Given the description of an element on the screen output the (x, y) to click on. 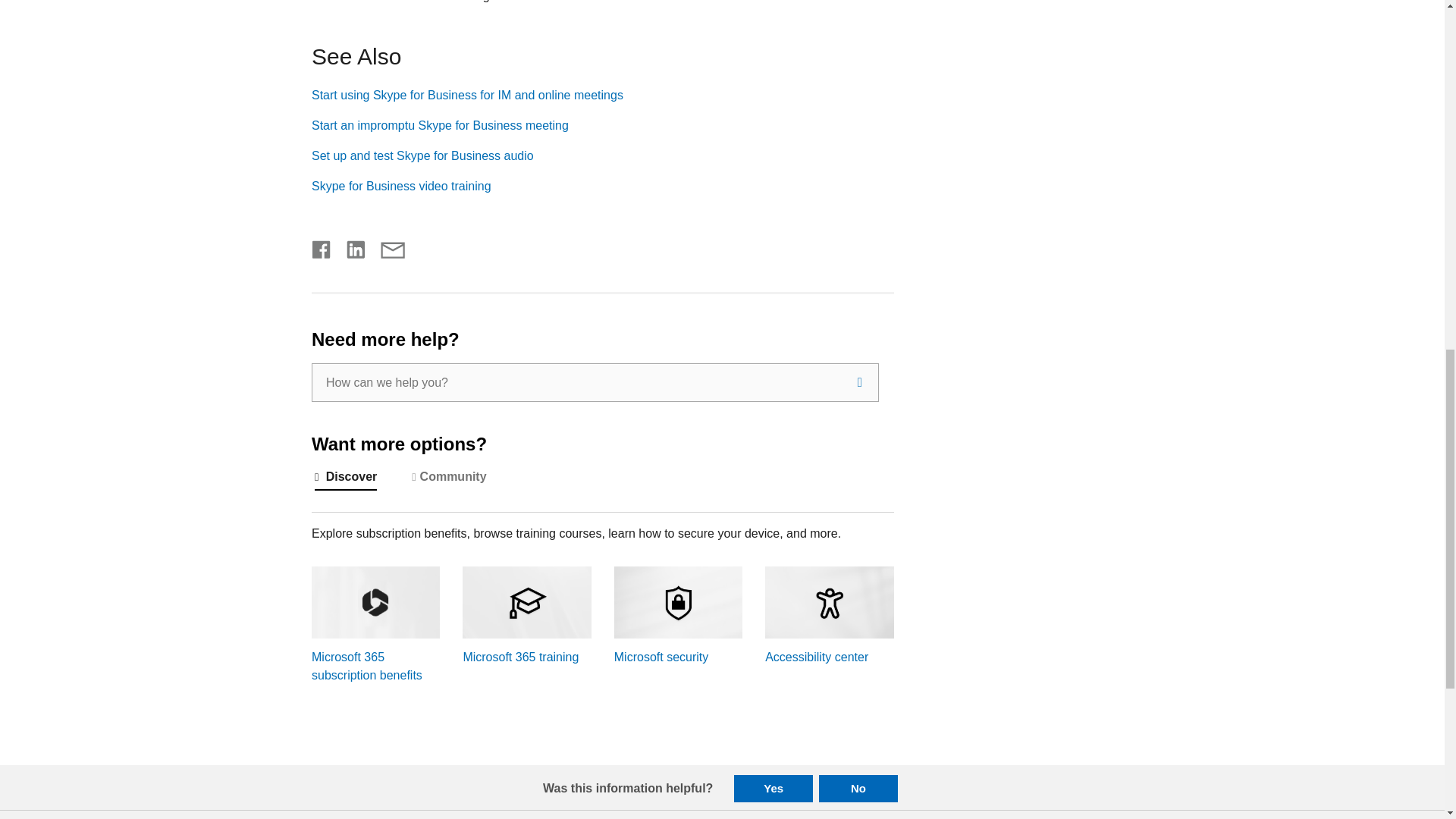
Share by email (385, 247)
Share on Facebook (322, 247)
Share on LinkedIn (349, 247)
Search (860, 382)
